Given the description of an element on the screen output the (x, y) to click on. 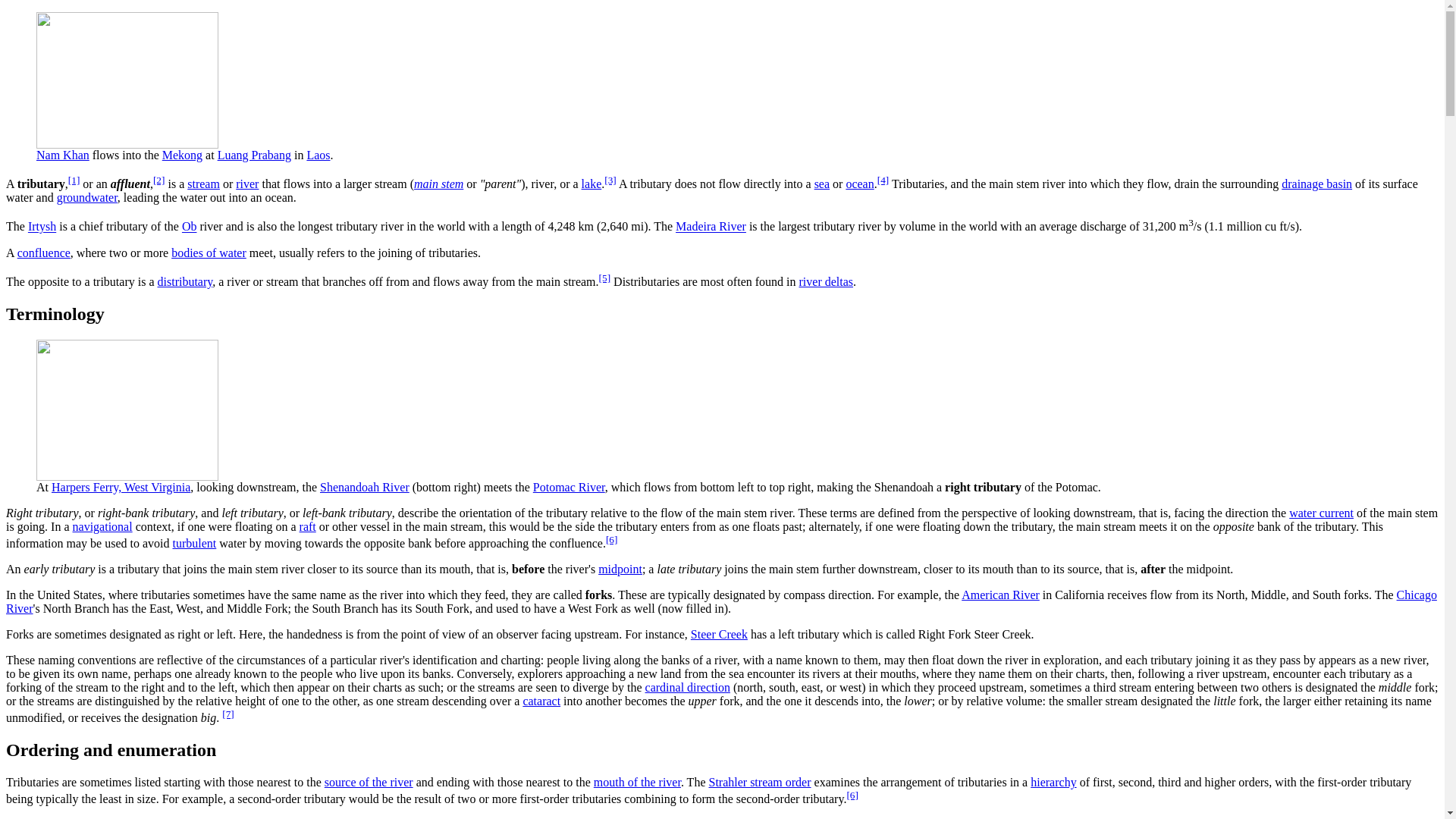
Laos (317, 154)
Ob (189, 226)
Mekong (181, 154)
Lake (591, 183)
American River (999, 594)
drainage basin (1316, 183)
Nam Khan (62, 154)
confluence (43, 252)
ocean (859, 183)
River delta (826, 281)
water current (1321, 512)
lake (591, 183)
midpoint (620, 568)
Irtysh (41, 226)
Distributary (184, 281)
